Given the description of an element on the screen output the (x, y) to click on. 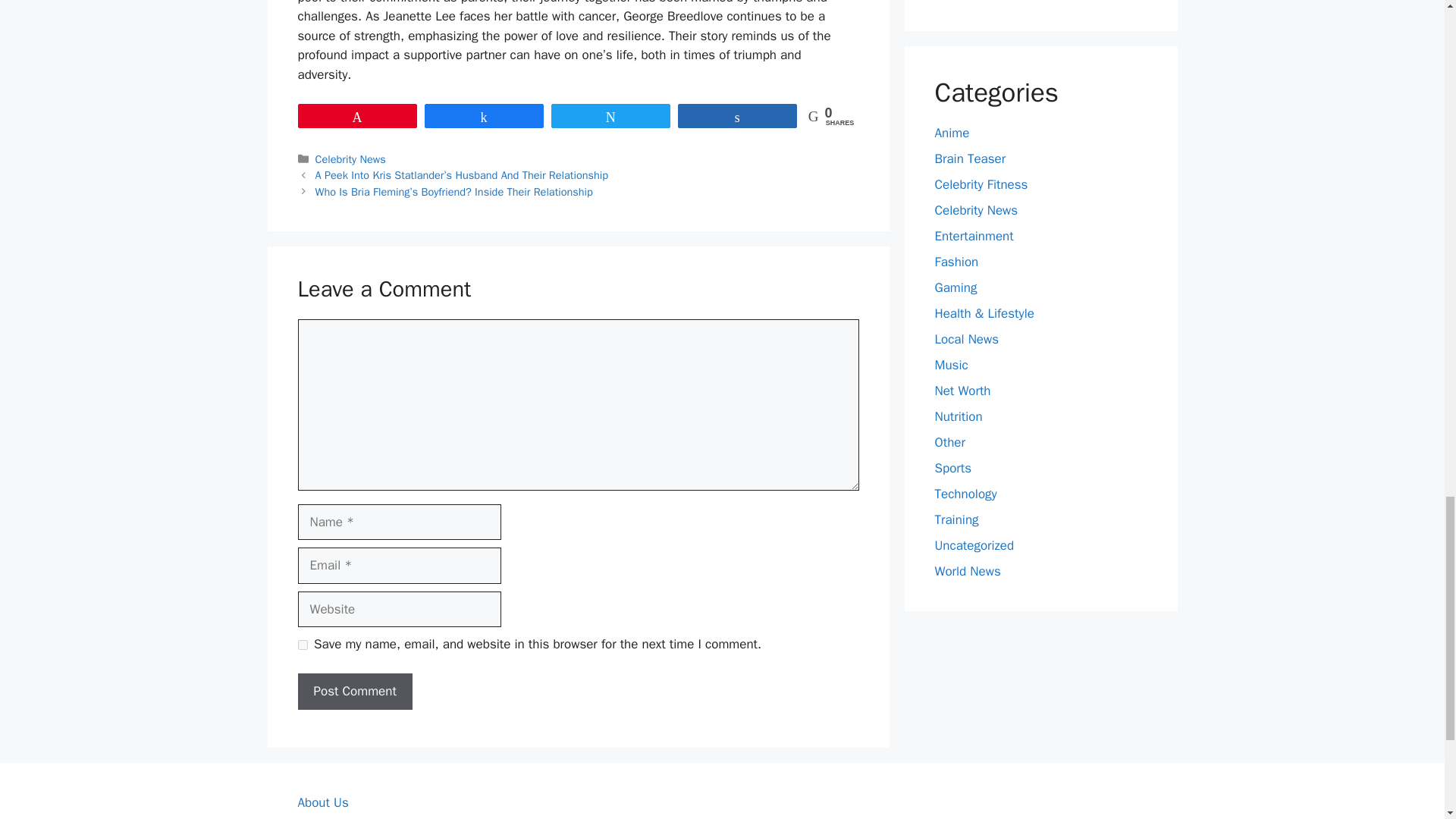
Post Comment (354, 691)
Celebrity News (350, 159)
yes (302, 644)
Post Comment (354, 691)
